Given the description of an element on the screen output the (x, y) to click on. 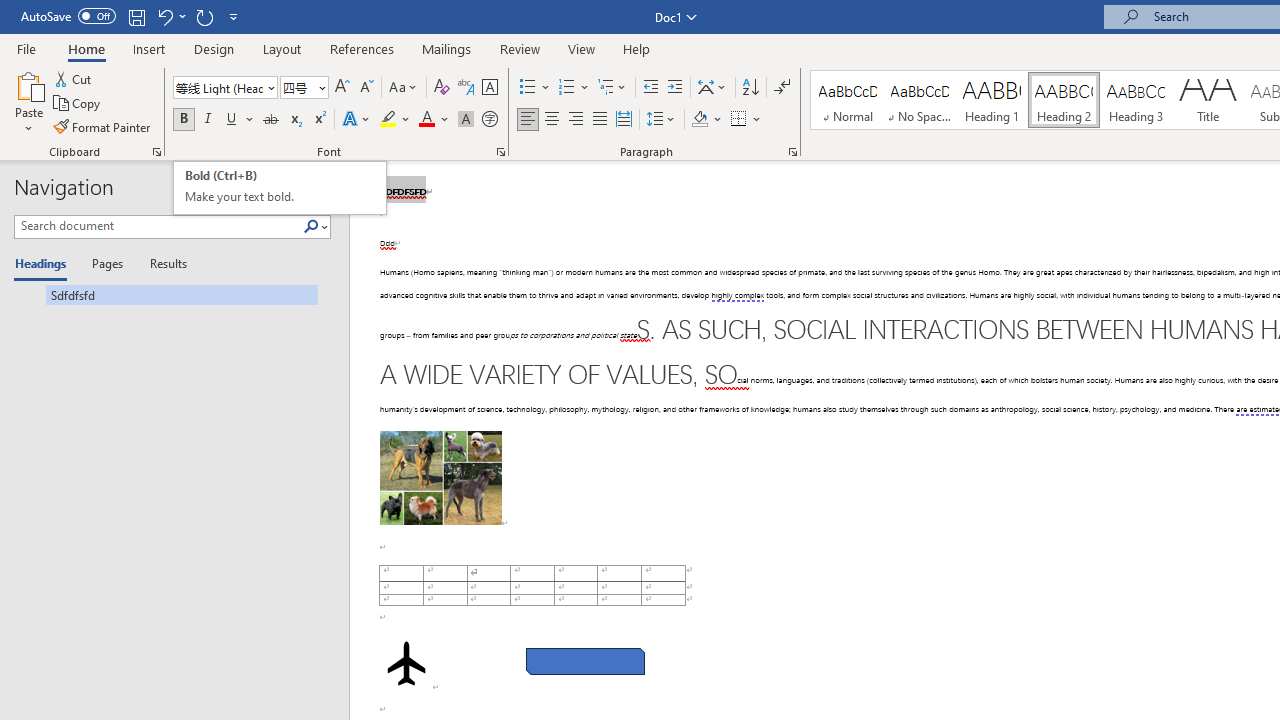
Shading RGB(0, 0, 0) (699, 119)
Show/Hide Editing Marks (781, 87)
Shading (706, 119)
Decrease Indent (650, 87)
Sort... (750, 87)
Quick Access Toolbar (131, 16)
Help (637, 48)
Search document (157, 226)
Pages (105, 264)
Font Color Red (426, 119)
Align Right (575, 119)
Customize Quick Access Toolbar (234, 15)
Results (161, 264)
Bold (183, 119)
